Given the description of an element on the screen output the (x, y) to click on. 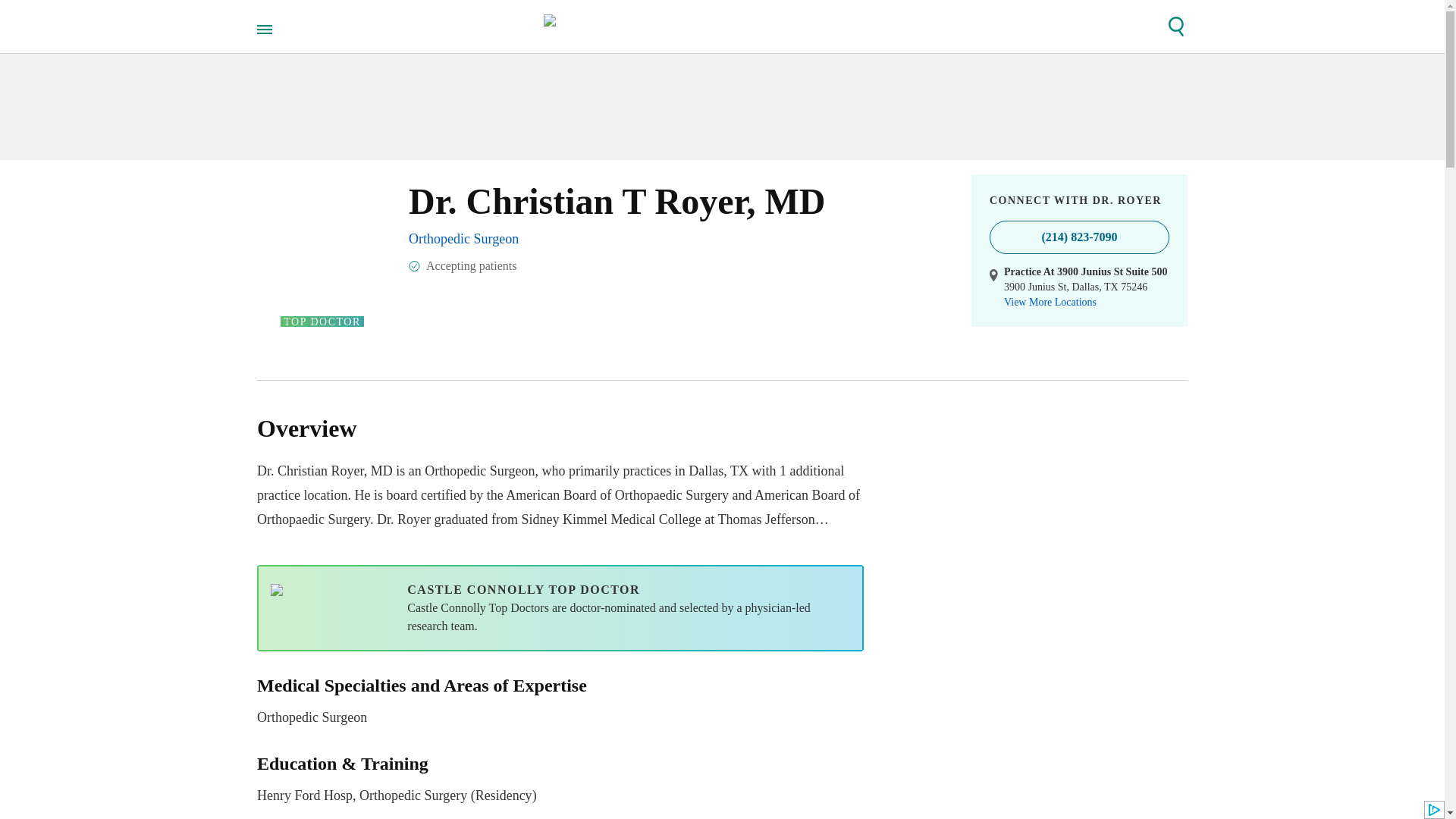
View More Locations (1050, 302)
Orthopedic Surgeon (463, 238)
